Given the description of an element on the screen output the (x, y) to click on. 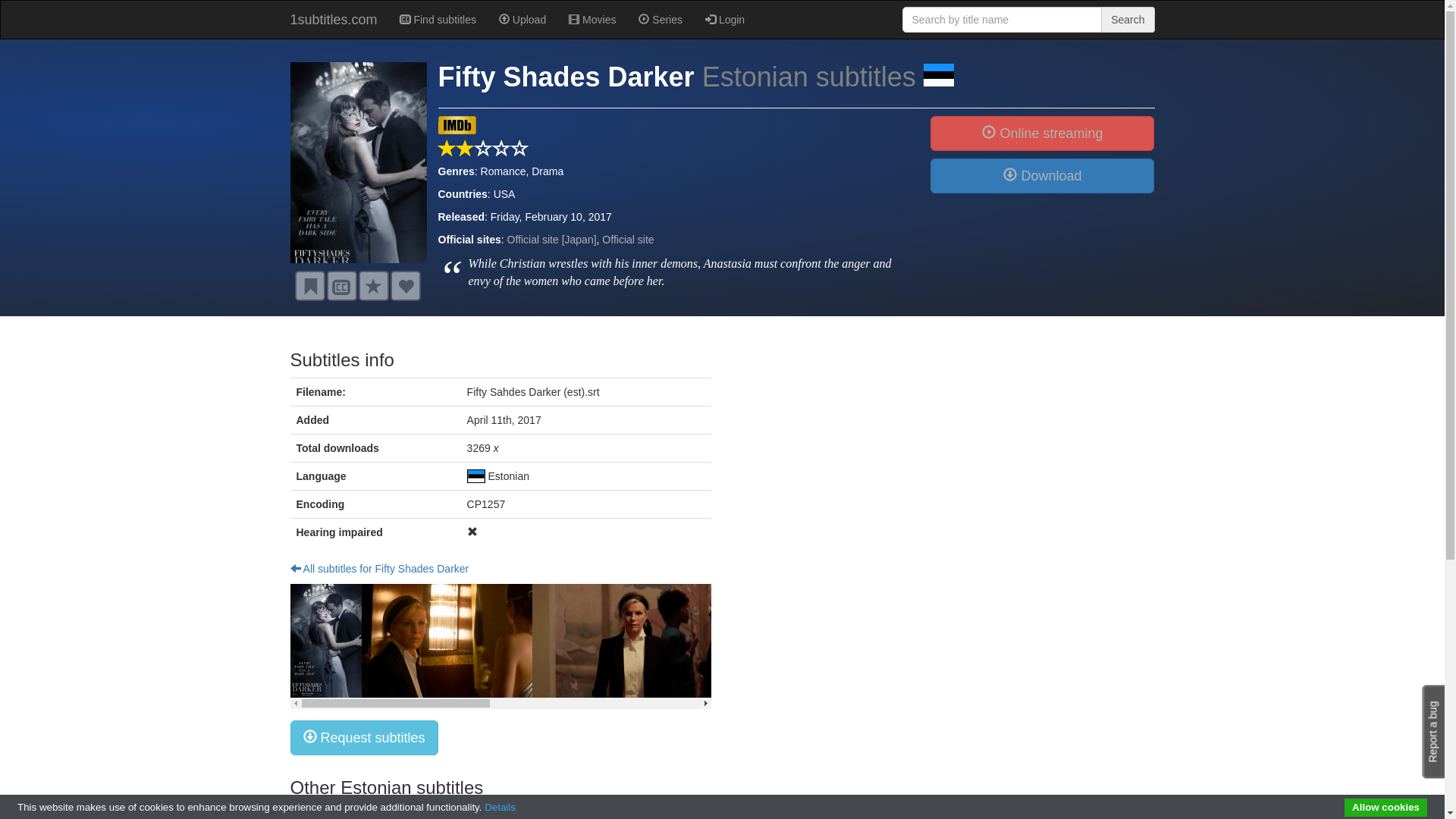
Add to favorite list Element type: hover (404, 285)
Official site [Japan] Element type: text (551, 239)
Download Element type: text (1042, 175)
Rate it! Element type: hover (372, 285)
Series Element type: text (660, 19)
Movies Element type: text (592, 19)
Internet Movie Database Element type: text (457, 130)
Add to watchlist Element type: hover (309, 285)
Find subtitles Element type: text (438, 19)
Allow cookies Element type: text (1385, 807)
Online streaming Element type: text (1042, 133)
Details Element type: text (499, 806)
1subtitles.com Element type: text (334, 19)
Login Element type: text (724, 19)
Request subtitles Element type: hover (341, 285)
Request subtitles Element type: text (363, 737)
All subtitles for Fifty Shades Darker Element type: text (378, 568)
Upload Element type: text (522, 19)
Official site Element type: text (627, 239)
